Given the description of an element on the screen output the (x, y) to click on. 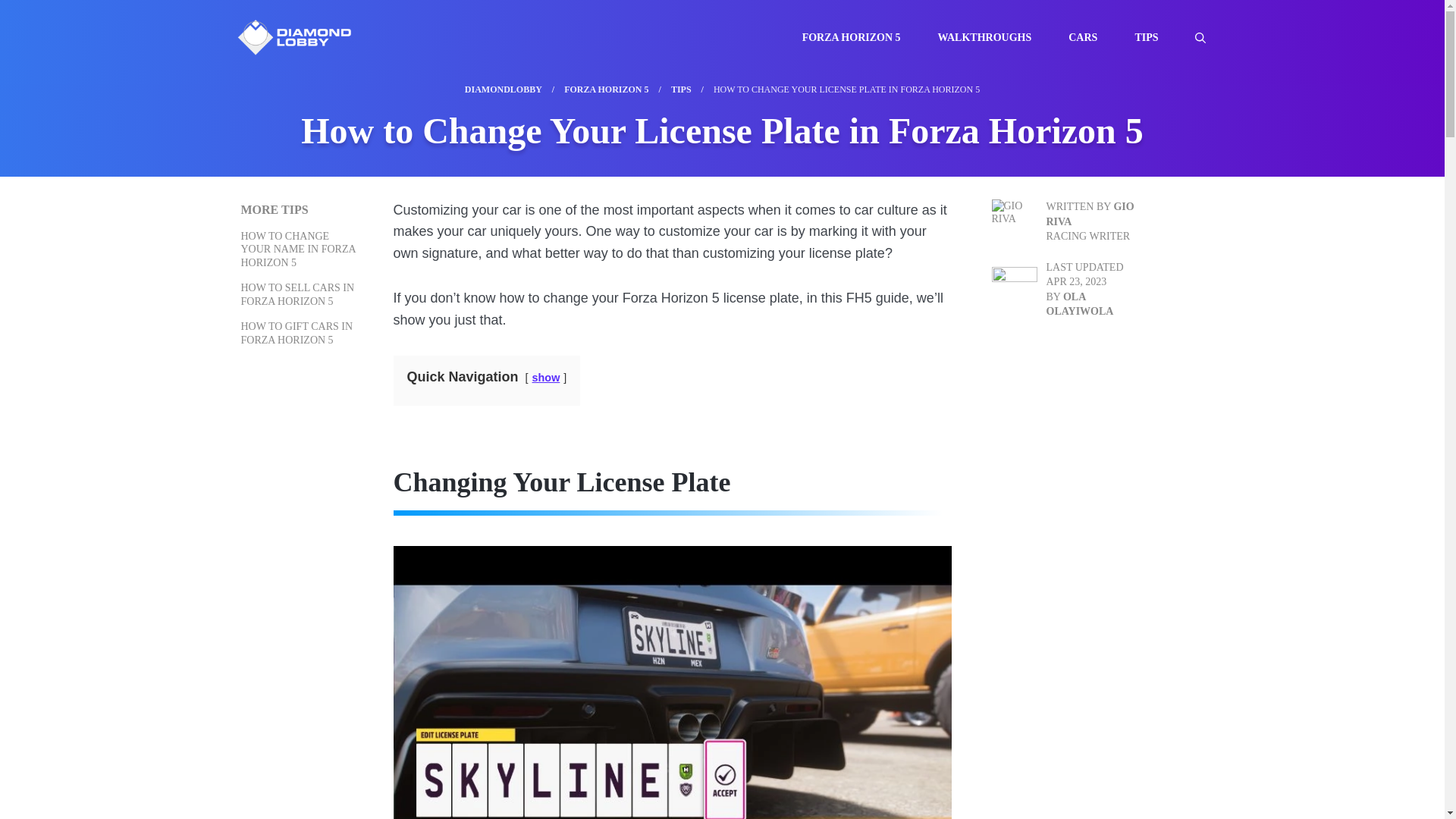
CARS (1091, 37)
WALKTHROUGHS (992, 37)
FORZA HORIZON 5 (605, 89)
HOW TO CHANGE YOUR NAME IN FORZA HORIZON 5 (298, 249)
DiamondLobby (292, 35)
OLA OLAYIWOLA (1079, 304)
DIAMONDLOBBY (502, 89)
GIO RIVA (1090, 213)
HOW TO SELL CARS IN FORZA HORIZON 5 (298, 294)
TIPS (681, 89)
